Given the description of an element on the screen output the (x, y) to click on. 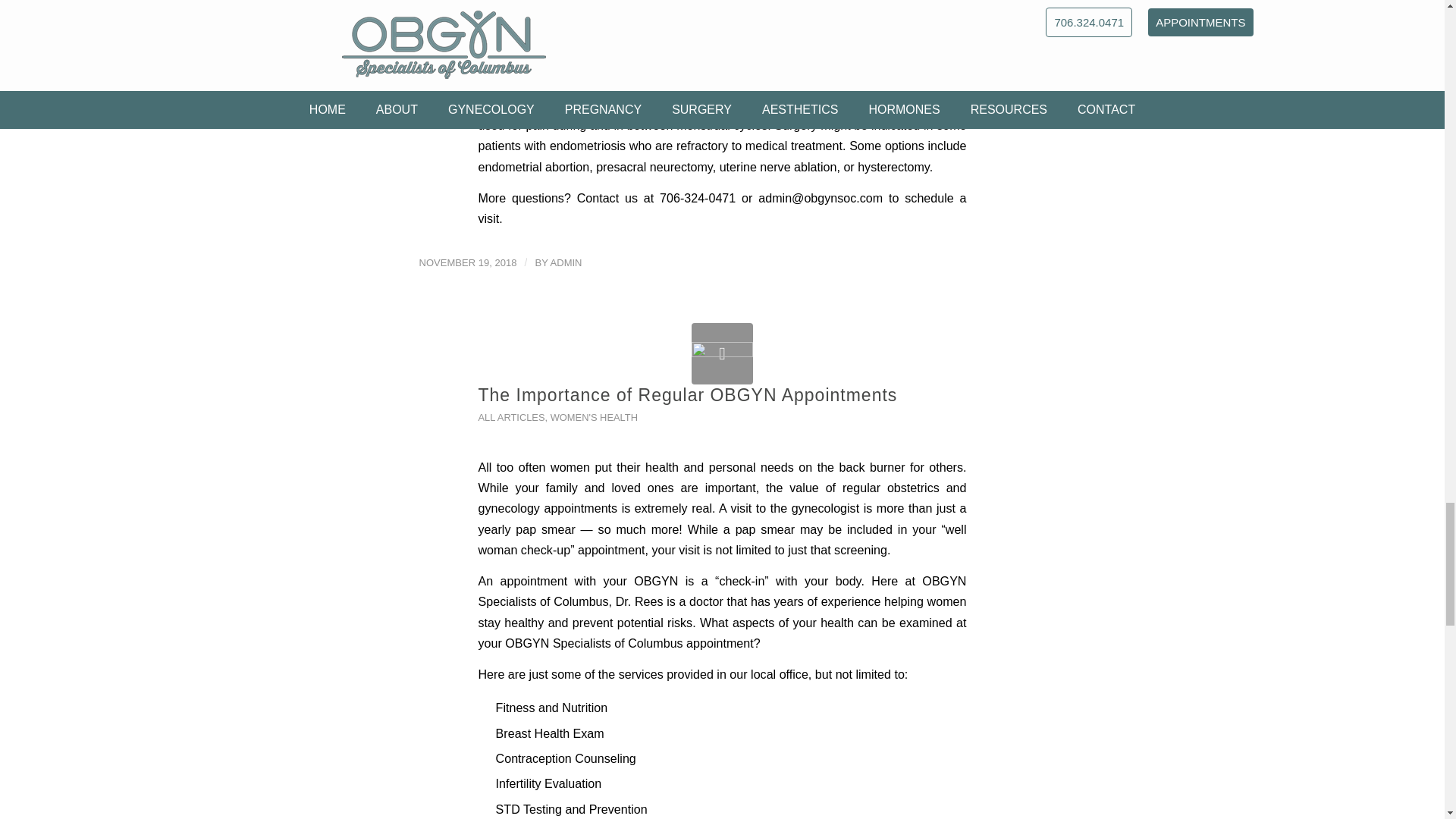
Posts by admin (566, 262)
Permanent Link: The Importance of Regular OBGYN Appointments (686, 394)
blog-14 (721, 353)
